Given the description of an element on the screen output the (x, y) to click on. 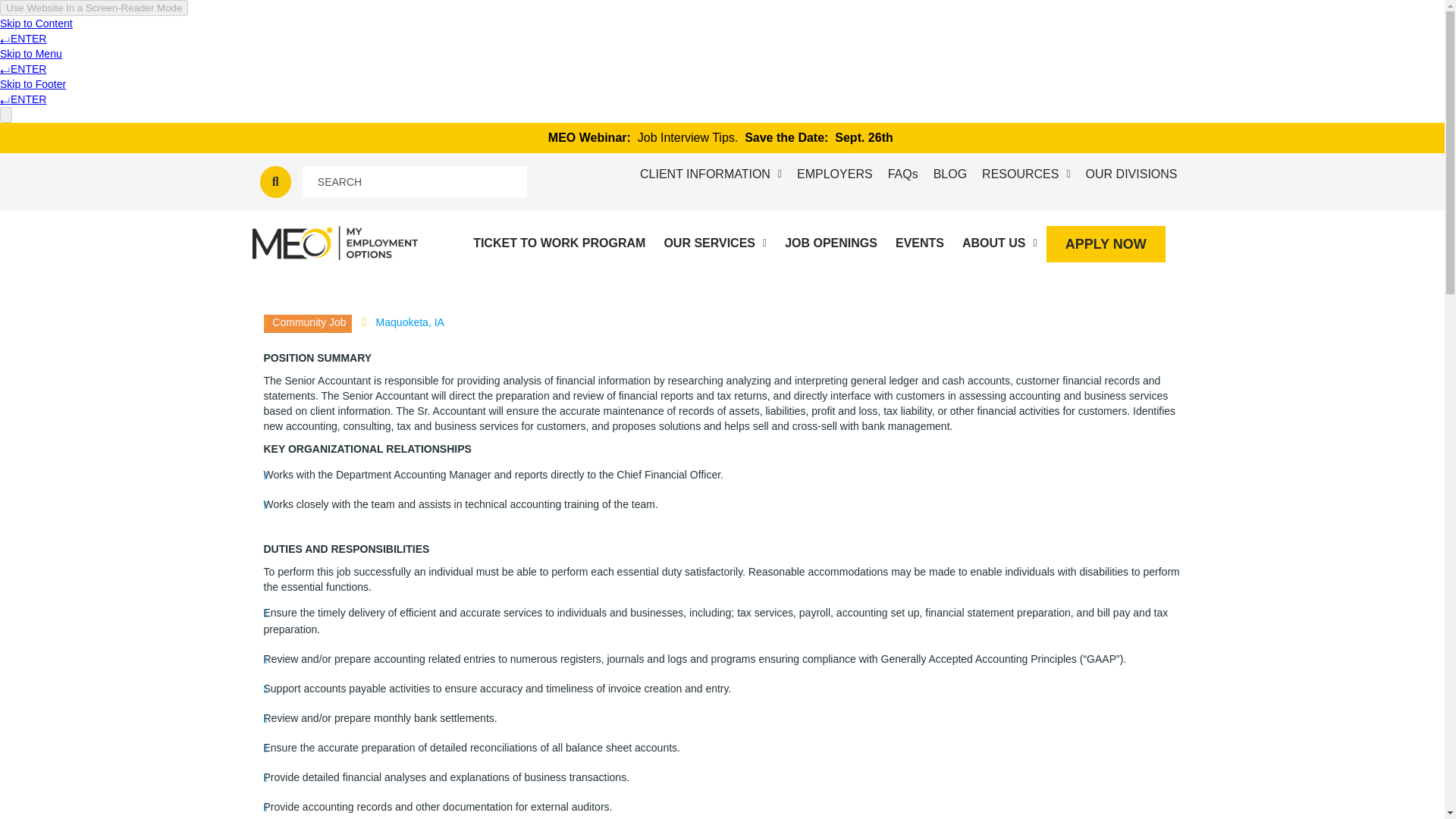
OUR SERVICES (714, 243)
APPLY NOW (1106, 244)
EMPLOYERS (834, 174)
CLIENT INFORMATION (710, 174)
TICKET TO WORK PROGRAM (558, 243)
EVENTS (919, 243)
ABOUT US (999, 243)
Search (414, 182)
JOB OPENINGS (831, 243)
OUR DIVISIONS (1131, 174)
Opens a widget where you can chat to one of our agents (1386, 792)
FAQs (903, 174)
RESOURCES (1025, 174)
BLOG (950, 174)
